Given the description of an element on the screen output the (x, y) to click on. 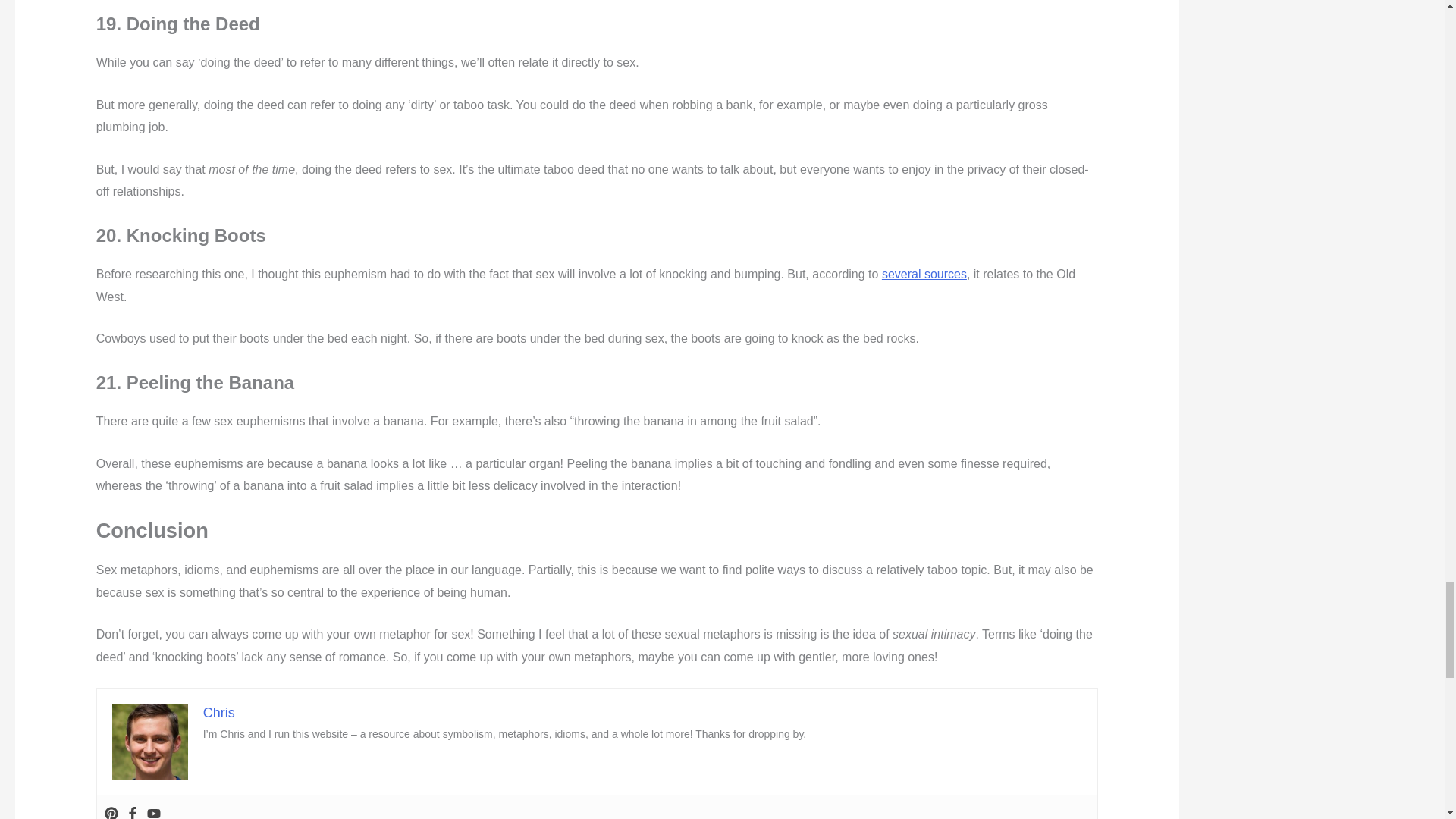
Youtube (153, 812)
Chris (218, 712)
Facebook (132, 812)
several sources (924, 273)
Pinterest (110, 812)
